Given the description of an element on the screen output the (x, y) to click on. 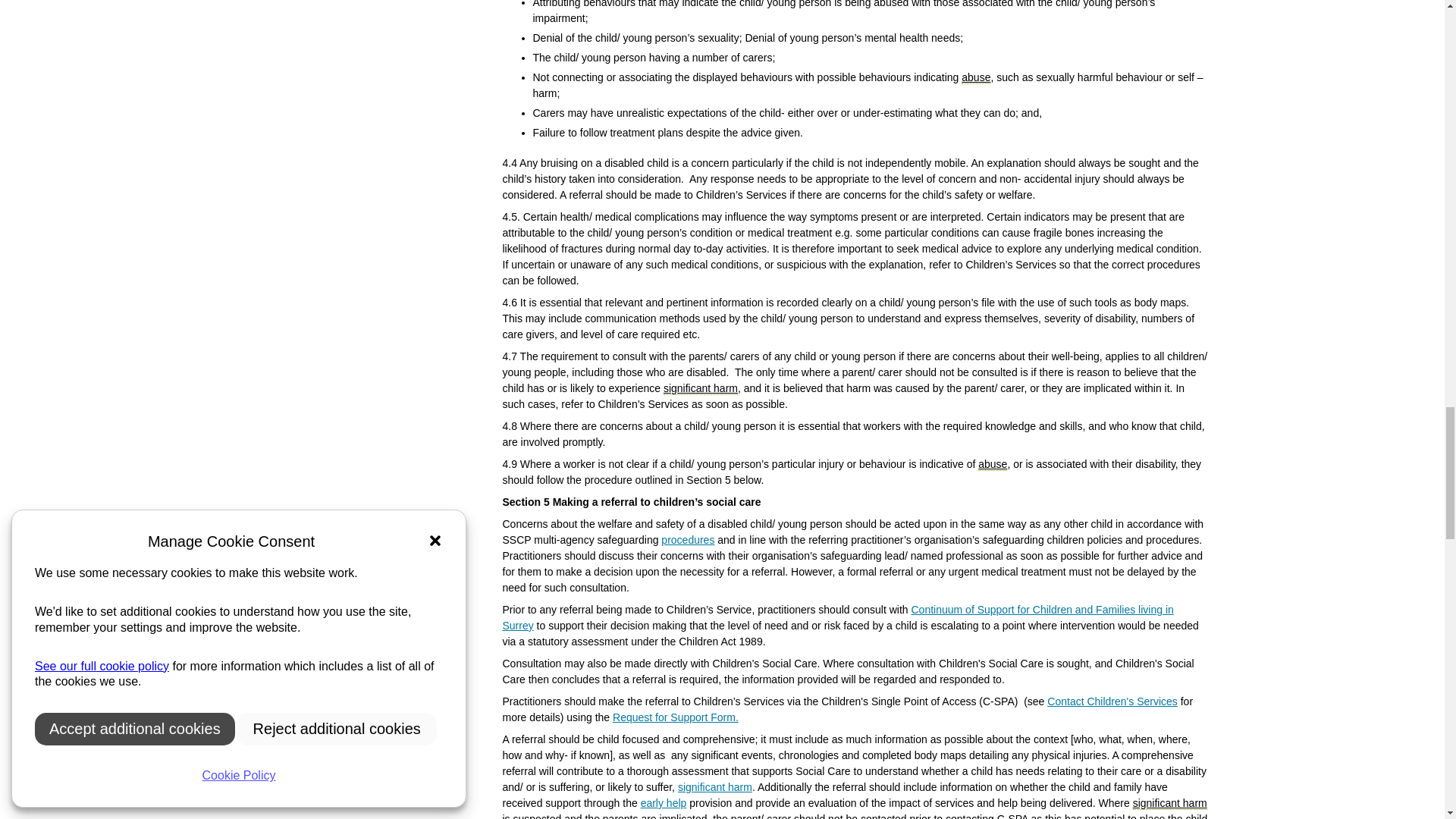
significant harm (700, 388)
abuse (992, 463)
abuse (975, 77)
procedures (687, 539)
